Given the description of an element on the screen output the (x, y) to click on. 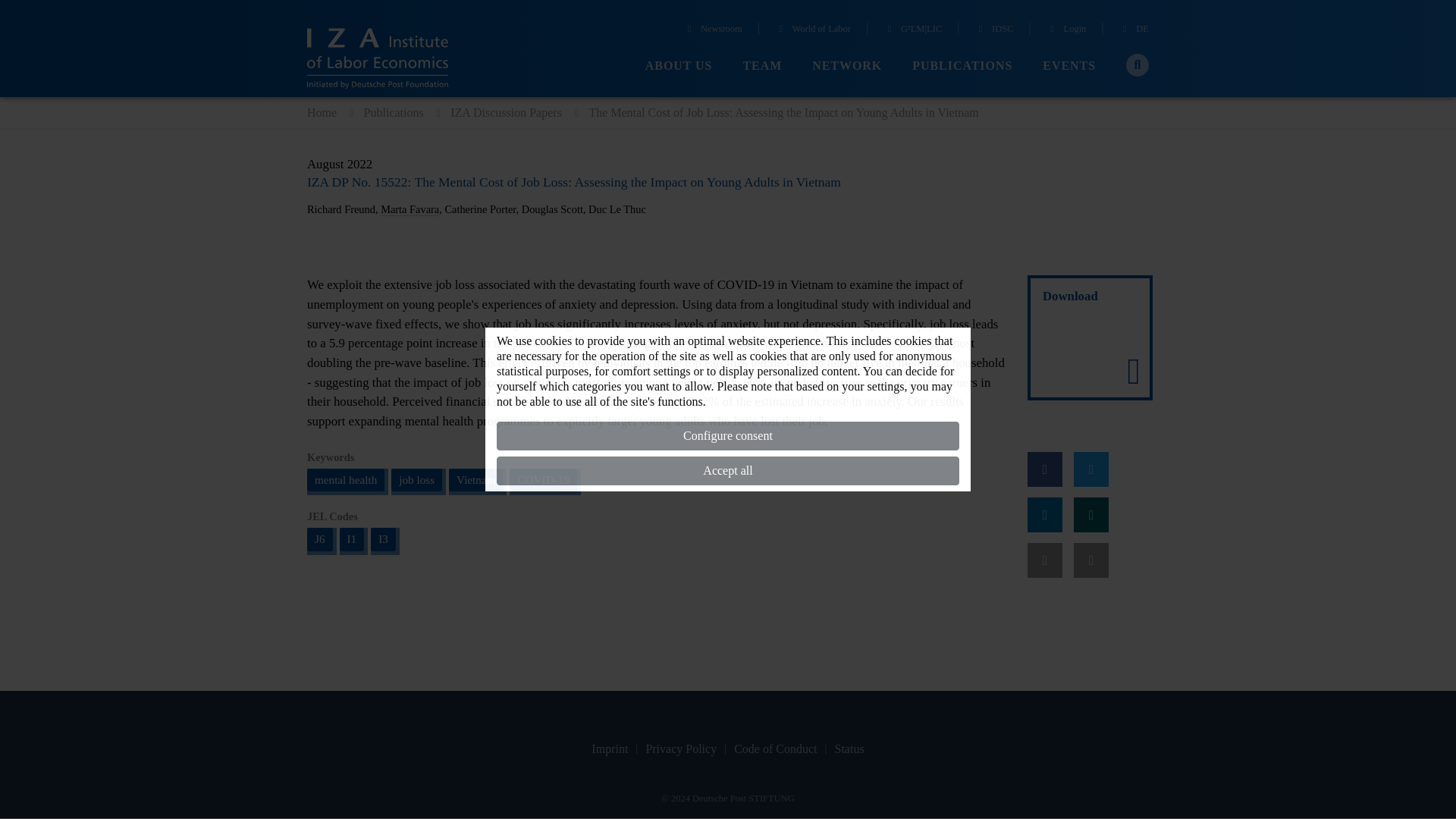
Newsroom (712, 30)
TEAM (761, 66)
Login (1066, 30)
PUBLICATIONS (961, 66)
ABOUT US (679, 66)
IDSC (993, 30)
NETWORK (847, 66)
EVENTS (1069, 66)
DE (1133, 30)
World of Labor (812, 30)
